Given the description of an element on the screen output the (x, y) to click on. 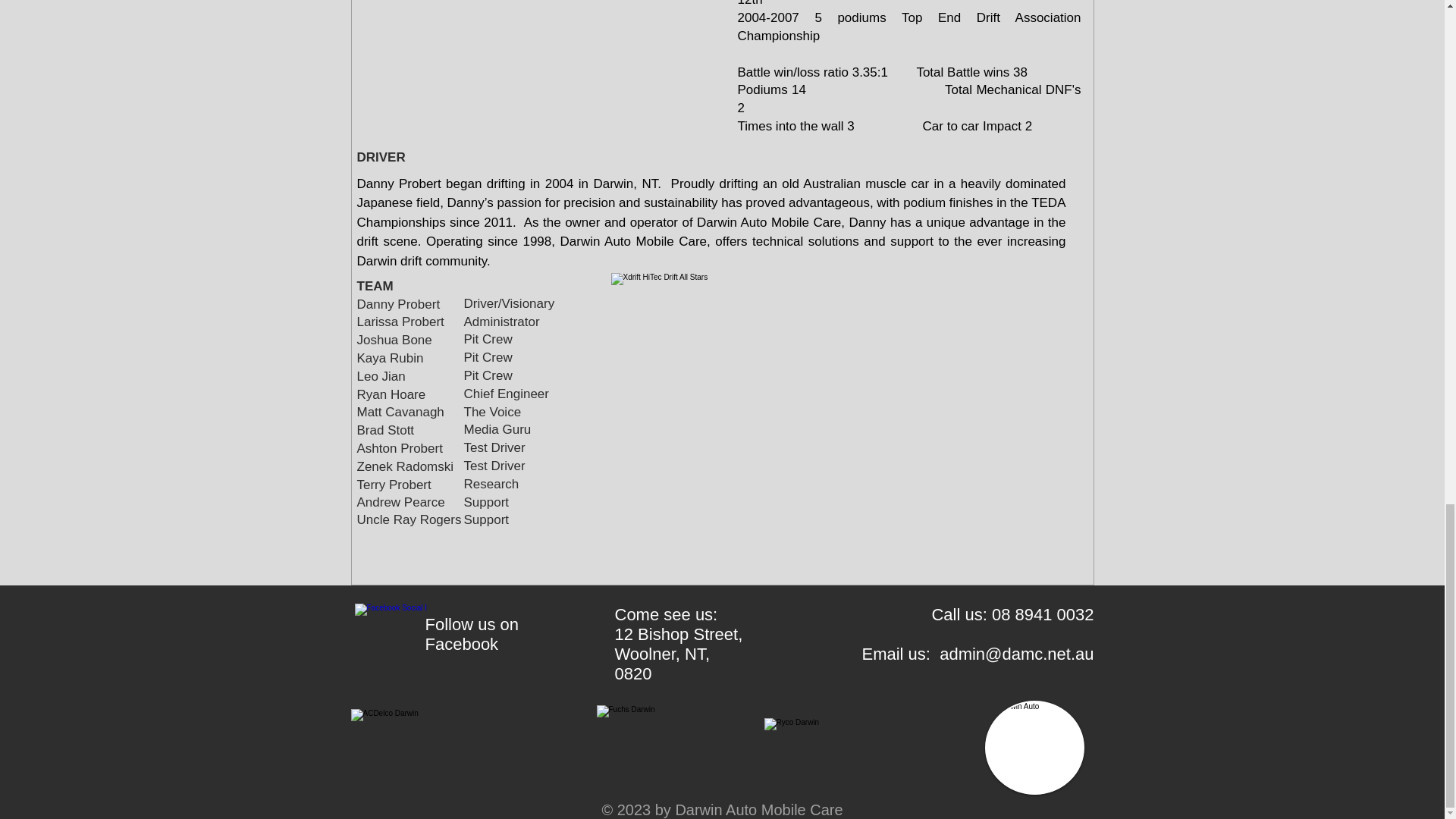
ACDelco Batteries (443, 732)
Darwin Auto Mobile Care (649, 748)
Locally Owned (1033, 747)
Darwin Auto Mobile Care (846, 748)
External YouTube (537, 36)
